Given the description of an element on the screen output the (x, y) to click on. 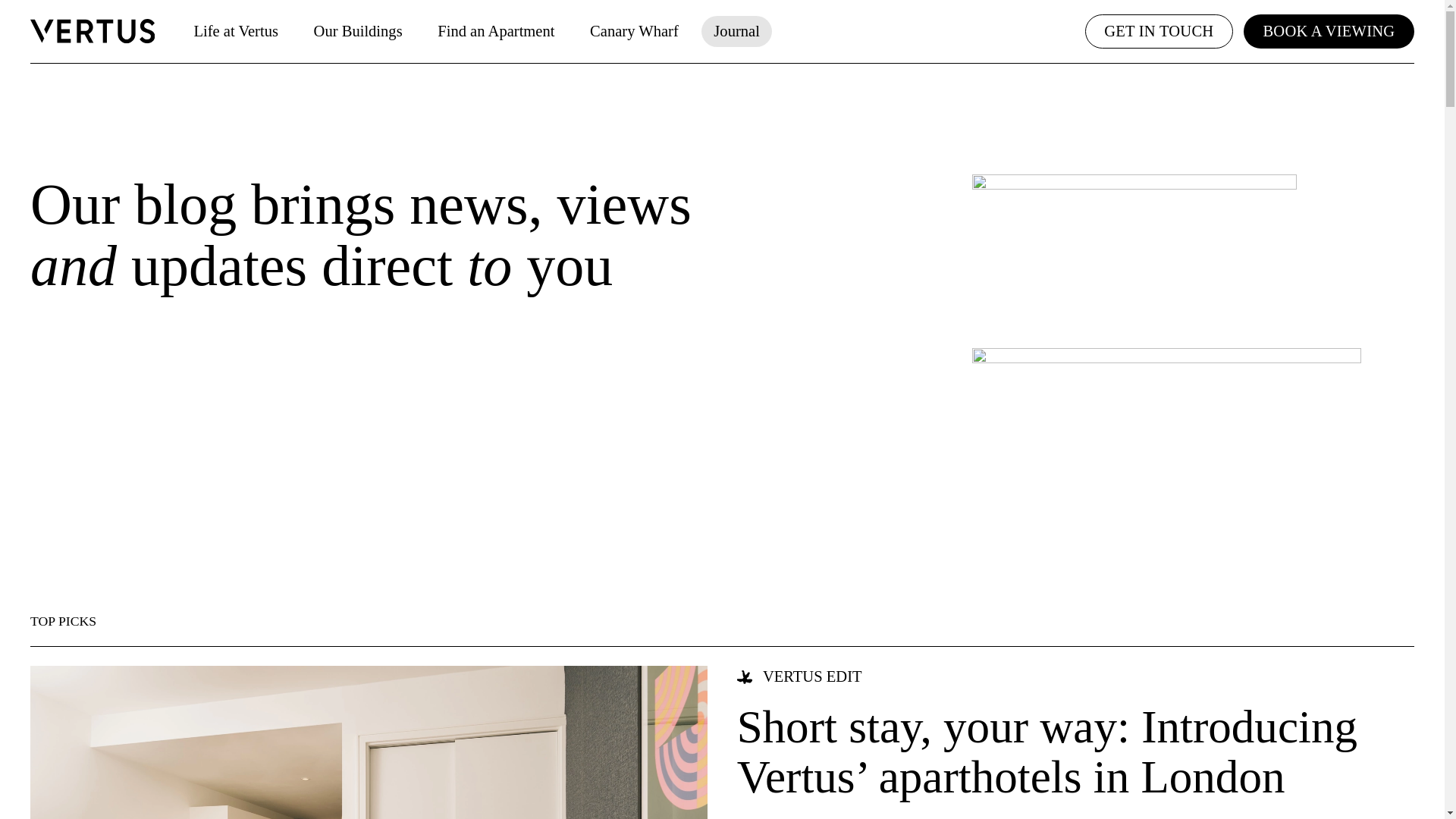
Our Buildings (357, 30)
Journal (736, 30)
Find an Apartment (496, 30)
BOOK A VIEWING (1328, 30)
Life at Vertus (234, 30)
Canary Wharf (634, 30)
GET IN TOUCH (1158, 30)
